Given the description of an element on the screen output the (x, y) to click on. 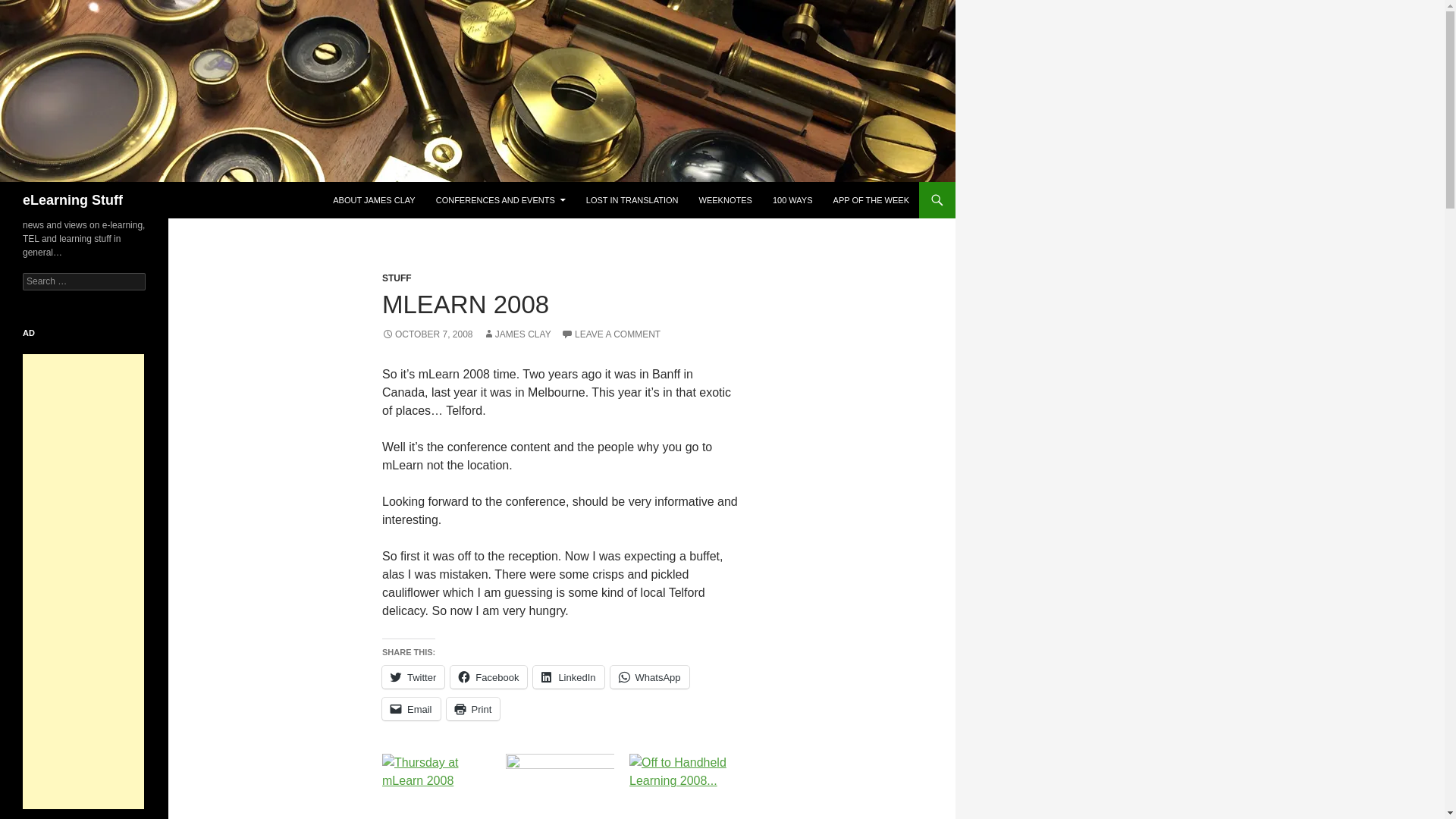
WEEKNOTES (725, 199)
OCTOBER 7, 2008 (427, 334)
Starting mLearn 2008 (559, 784)
100 WAYS (792, 199)
Email (411, 708)
LEAVE A COMMENT (610, 334)
Click to print (473, 708)
JAMES CLAY (517, 334)
Click to share on WhatsApp (649, 676)
